Given the description of an element on the screen output the (x, y) to click on. 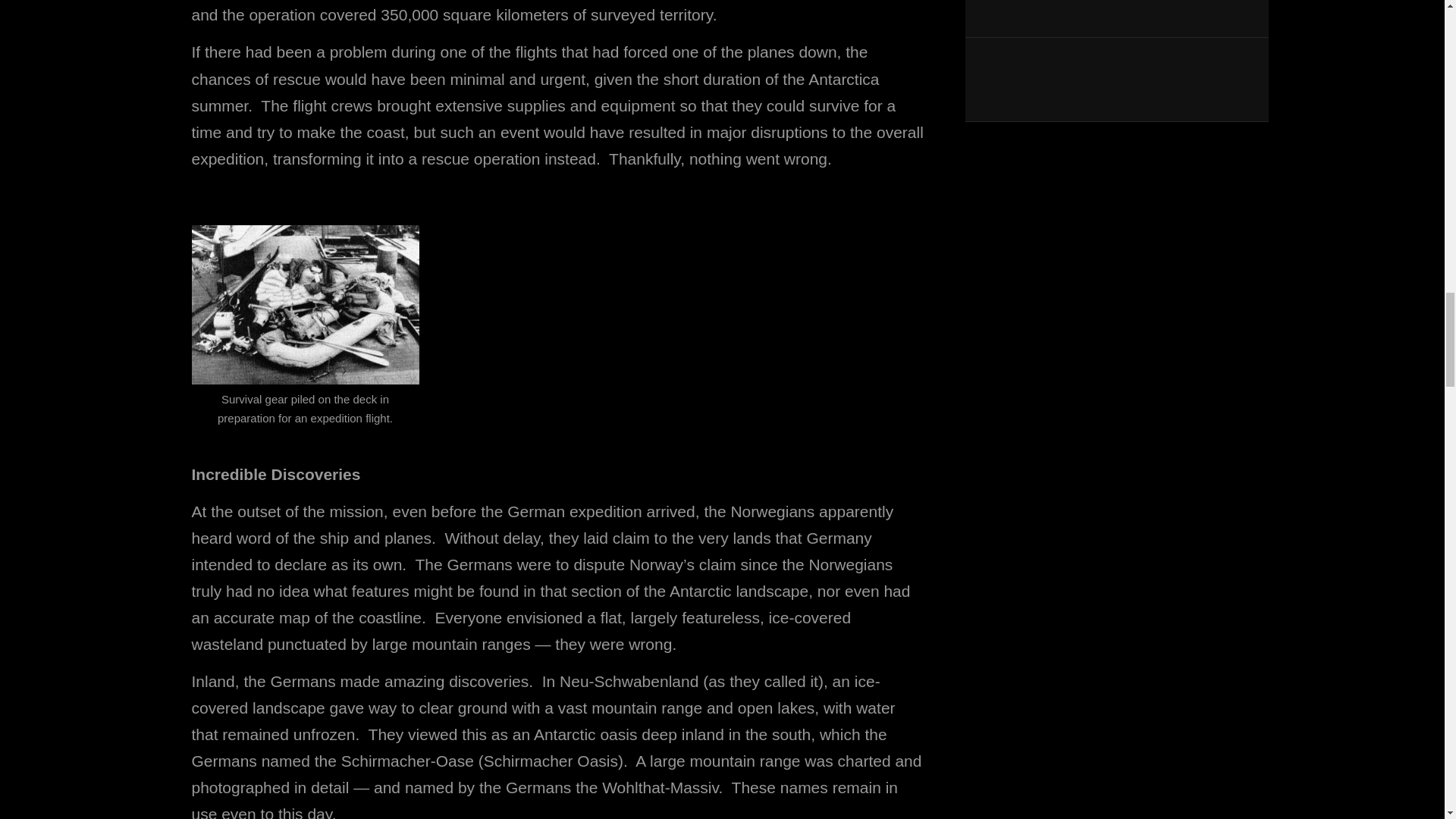
HighFlight-Neu-Schwabenland3 (304, 304)
